Given the description of an element on the screen output the (x, y) to click on. 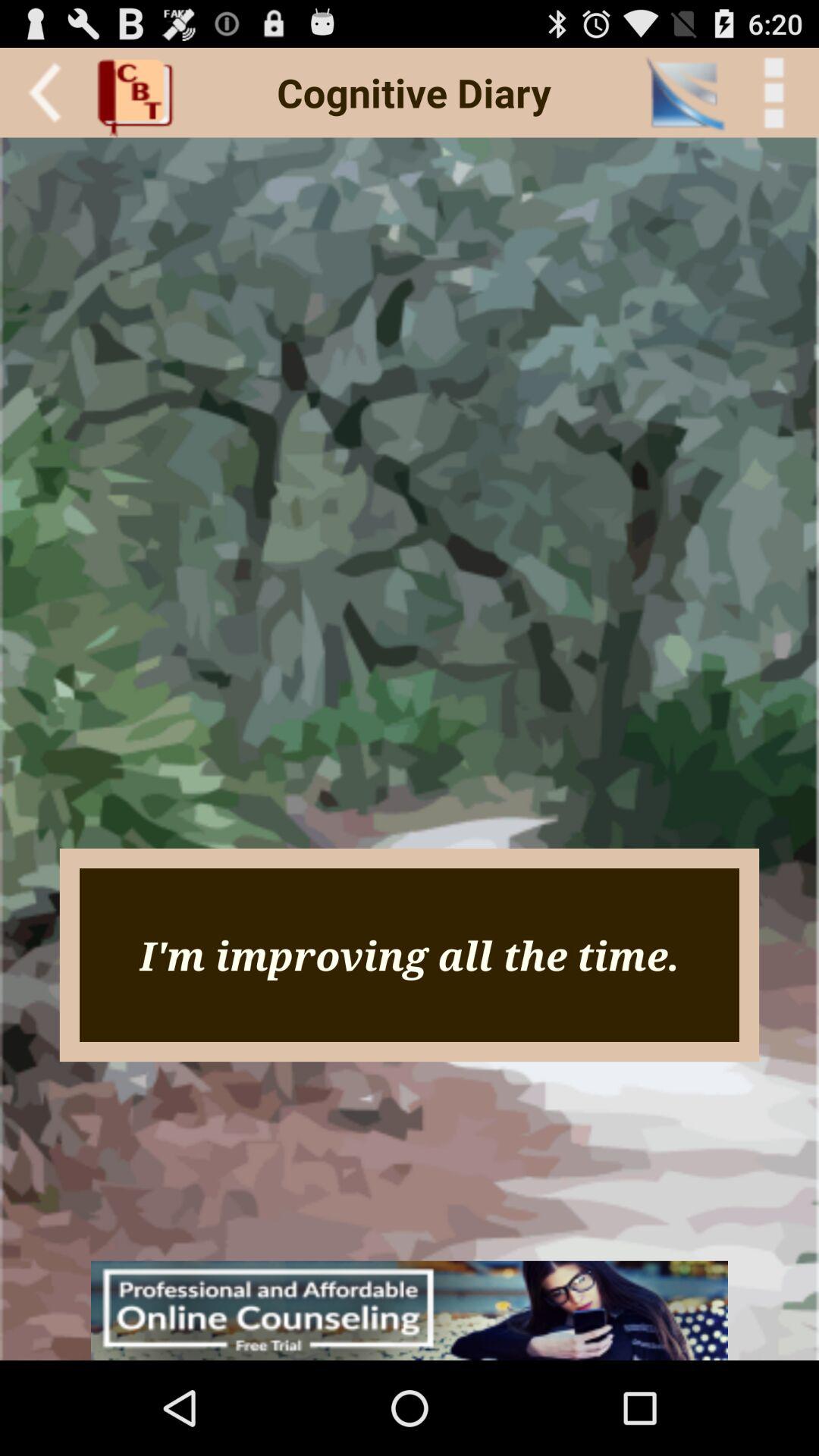
advertisement (409, 1310)
